Given the description of an element on the screen output the (x, y) to click on. 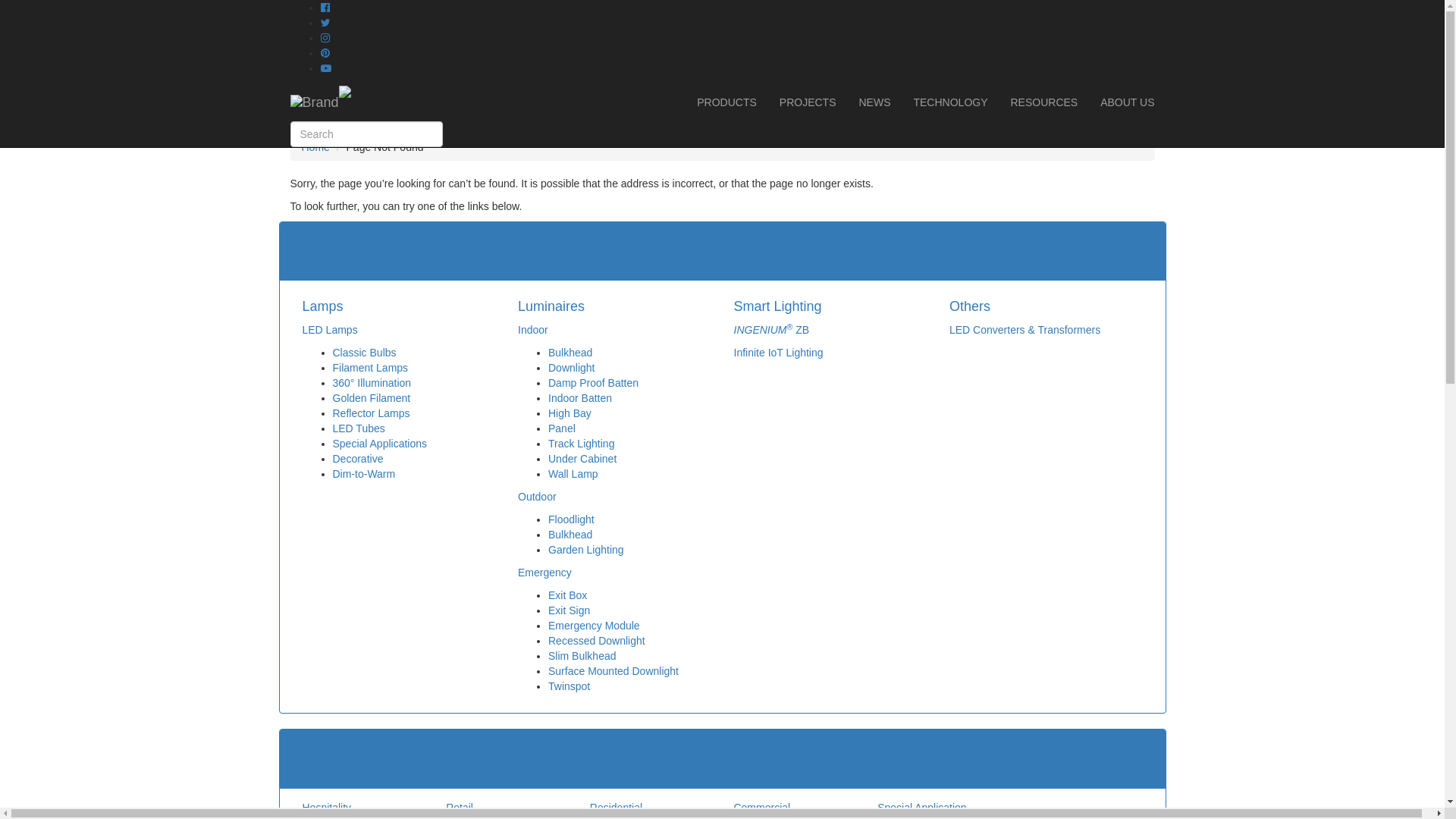
Cookie Setting Element type: text (125, 22)
Accept All Cookies Element type: text (43, 22)
Home Element type: text (315, 147)
Special Application Element type: text (921, 807)
Retail Element type: text (459, 807)
Smart Lighting Element type: text (778, 305)
ABOUT US Element type: text (1126, 102)
Products Element type: text (327, 254)
Reflector Lamps Element type: text (370, 413)
Wall Lamp Element type: text (573, 473)
Recessed Downlight Element type: text (596, 640)
Lamps Element type: text (321, 305)
Damp Proof Batten Element type: text (593, 382)
Indoor Element type: text (532, 329)
Surface Mounted Downlight Element type: text (613, 671)
High Bay Element type: text (569, 413)
Twinspot Element type: text (568, 686)
Projects Element type: text (324, 761)
Worldwide Element type: text (344, 87)
Commercial Element type: text (761, 807)
Dim-to-Warm Element type: text (363, 473)
LED Converters & Transformers Element type: text (1024, 329)
Golden Filament Element type: text (371, 398)
Residential Element type: text (615, 807)
Slim Bulkhead Element type: text (582, 655)
Garden Lighting Element type: text (586, 549)
Bulkhead Element type: text (570, 534)
Filament Lamps Element type: text (369, 367)
TECHNOLOGY Element type: text (949, 102)
Track Lighting Element type: text (581, 443)
RESOURCES Element type: text (1044, 102)
Floodlight Element type: text (571, 519)
PRODUCTS Element type: text (726, 102)
Hospitality Element type: text (326, 807)
PROJECTS Element type: text (807, 102)
Decorative Element type: text (357, 458)
NEWS Element type: text (874, 102)
Others Element type: text (969, 305)
Luminaires Element type: text (550, 305)
Indoor Batten Element type: text (579, 398)
Bulkhead Element type: text (570, 352)
Emergency Module Element type: text (594, 625)
Infinite IoT Lighting Element type: text (778, 352)
Classic Bulbs Element type: text (363, 352)
Panel Element type: text (561, 428)
Exit Sign Element type: text (568, 610)
Outdoor Element type: text (536, 496)
Downlight Element type: text (571, 367)
LED Lamps Element type: text (329, 329)
Exit Box Element type: text (567, 595)
Under Cabinet Element type: text (582, 458)
LED Tubes Element type: text (358, 428)
Special Applications Element type: text (379, 443)
Emergency Element type: text (544, 572)
